Given the description of an element on the screen output the (x, y) to click on. 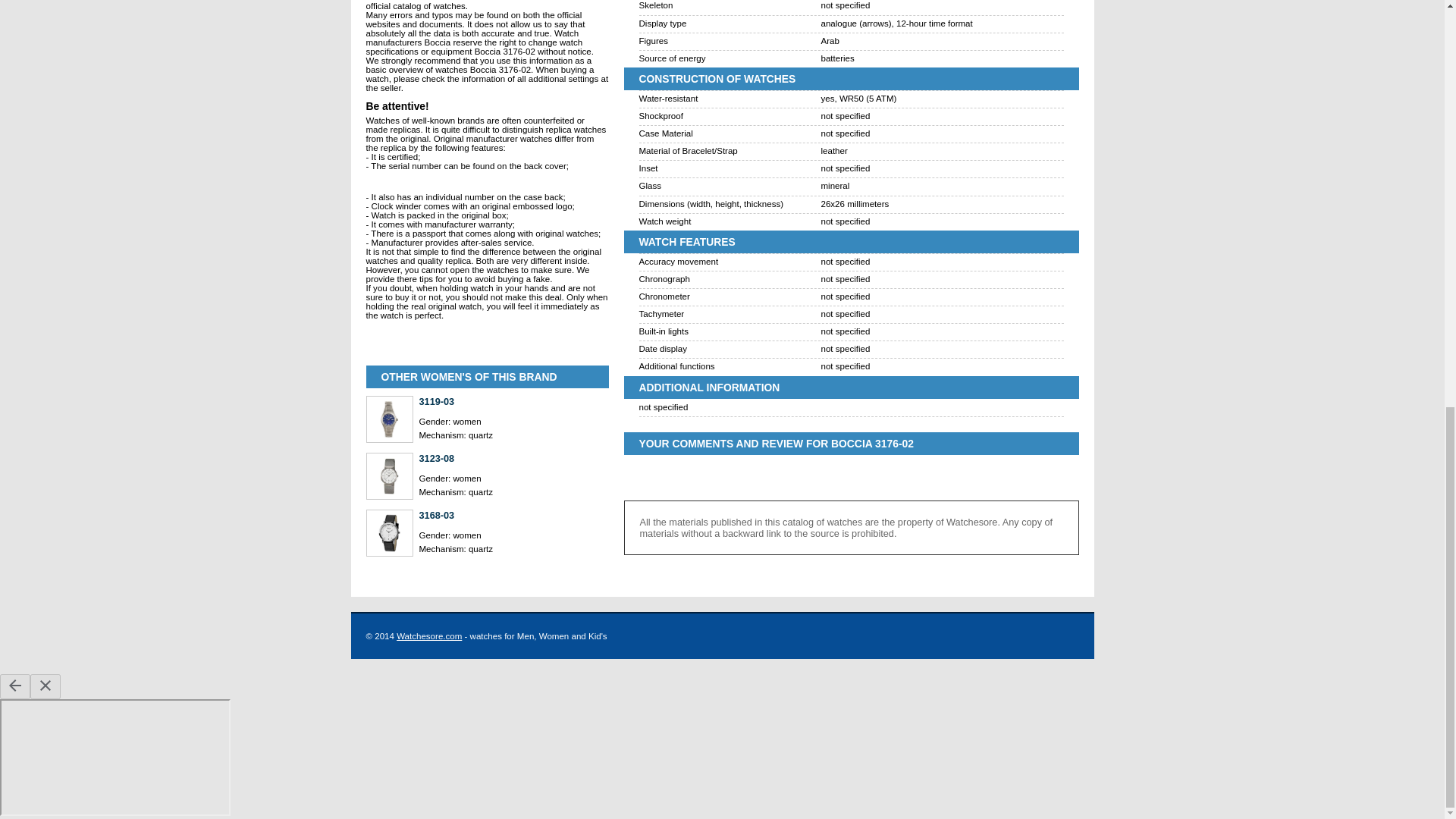
3119-03 (513, 401)
Watchesore.com (428, 635)
3123-08 (513, 458)
3168-03 (513, 514)
